Given the description of an element on the screen output the (x, y) to click on. 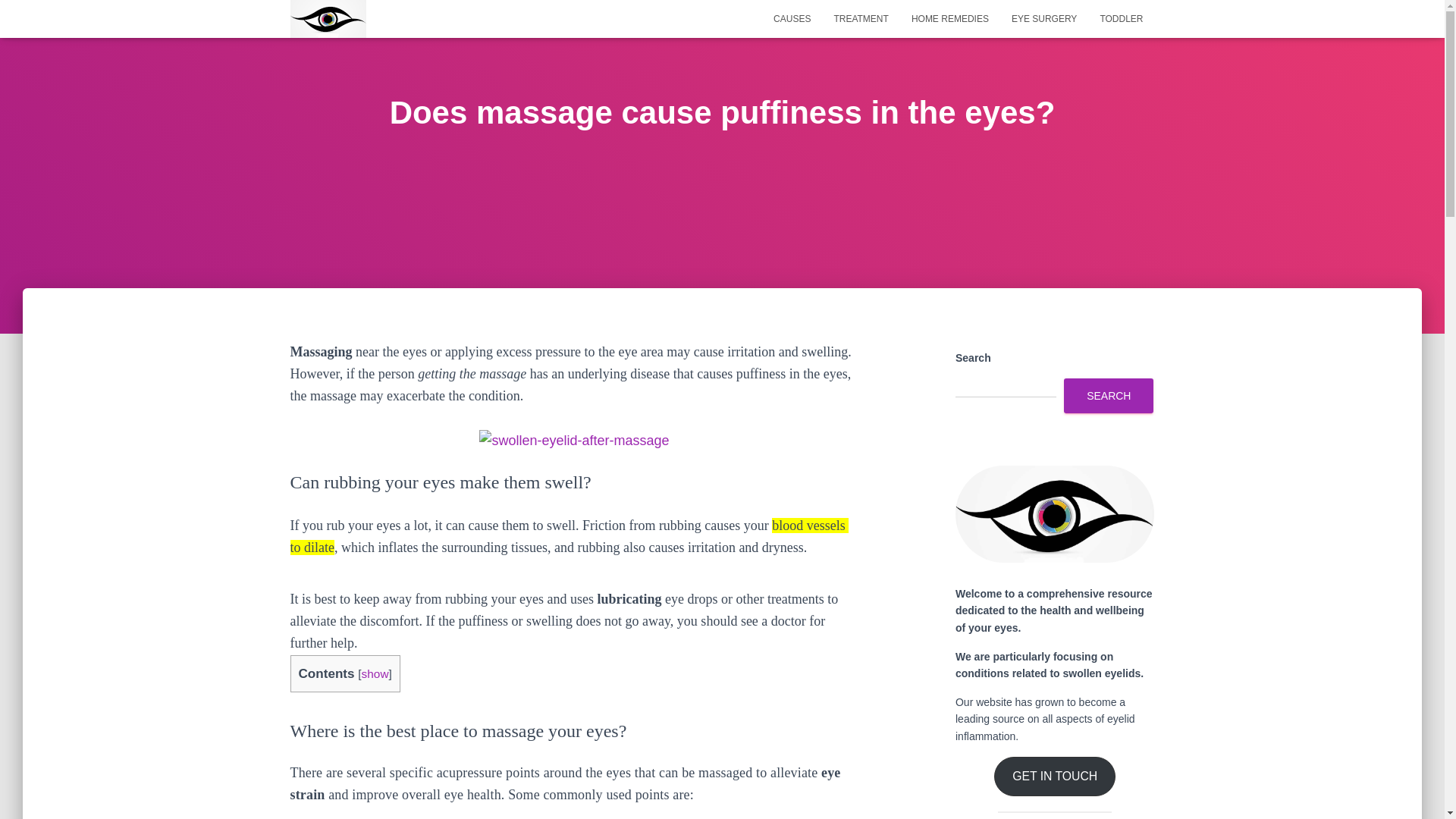
Swollen Eyelid after Massage (573, 440)
Home Remedies (949, 18)
Toddler (1120, 18)
TODDLER (1120, 18)
show (374, 673)
HOME REMEDIES (949, 18)
SEARCH (1108, 396)
EYE SURGERY (1043, 18)
GET IN TOUCH (1054, 776)
Swollen Eyelid (328, 18)
